Given the description of an element on the screen output the (x, y) to click on. 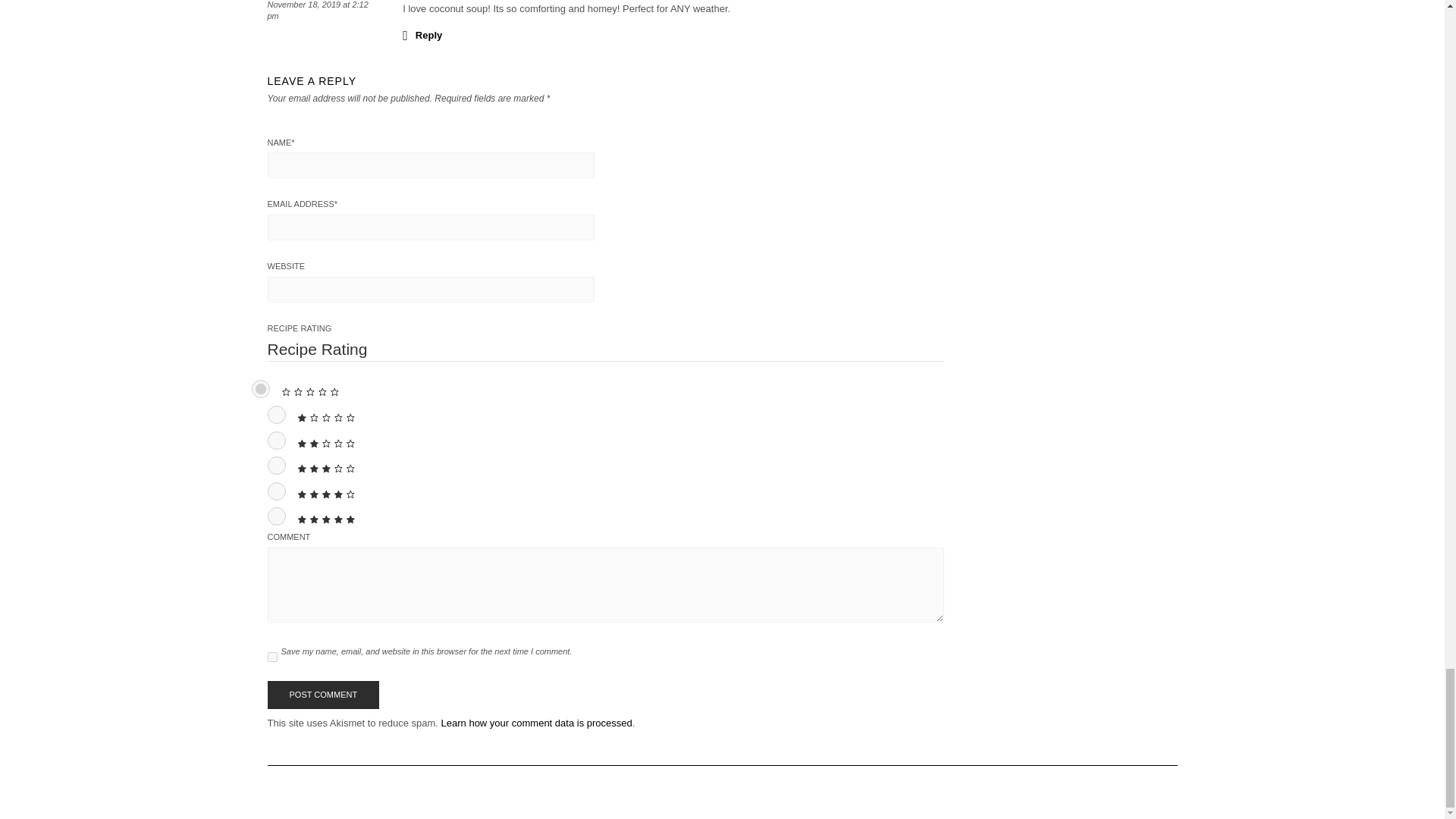
Reply (422, 35)
1 (275, 414)
yes (271, 656)
Learn how your comment data is processed (536, 722)
November 18, 2019 at 2:12 pm (317, 10)
0 (260, 389)
2 (275, 440)
Post Comment (322, 695)
3 (275, 465)
Post Comment (322, 695)
